Given the description of an element on the screen output the (x, y) to click on. 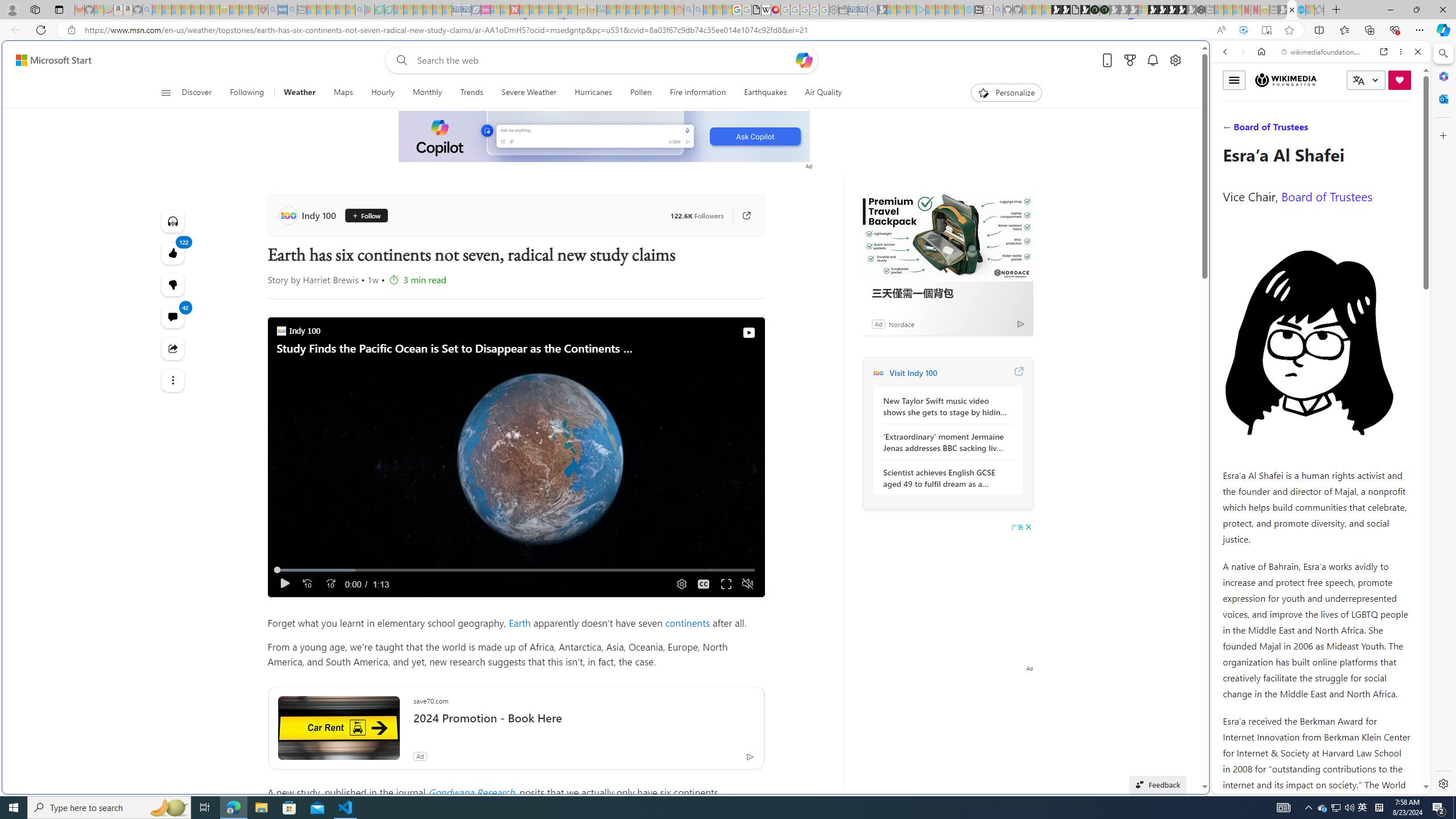
Indy 100 (309, 215)
View on Watch View on Watch (722, 332)
Class: i icon icon-translate language-switcher__icon (1358, 80)
Wikimedia Foundation (1285, 79)
Go to publisher's site (746, 215)
